Given the description of an element on the screen output the (x, y) to click on. 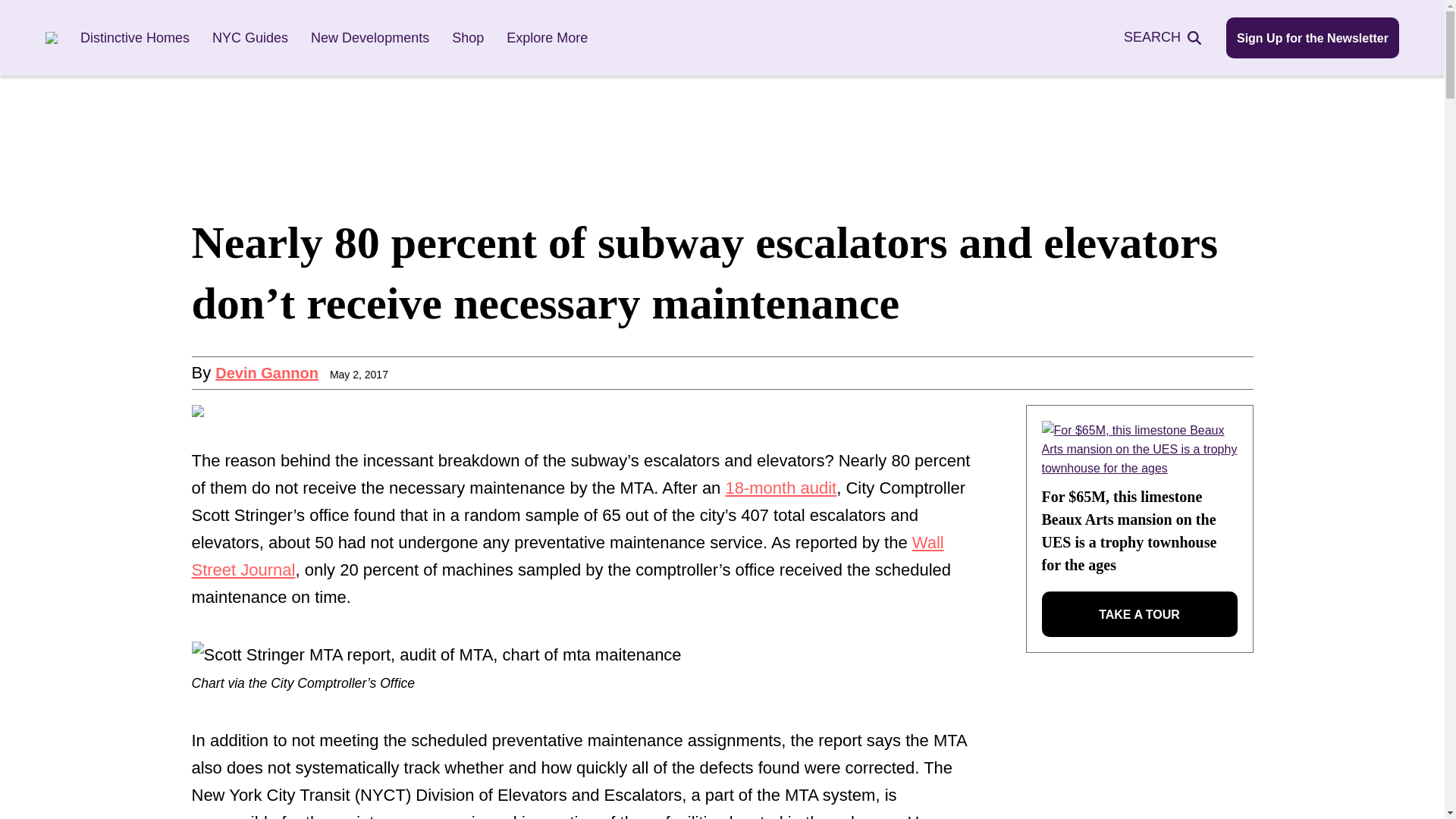
Posts by Devin Gannon (266, 372)
Sign Up for the Newsletter (1312, 37)
Devin Gannon (266, 372)
Explore More (547, 37)
Shop (467, 37)
18-month audit (780, 487)
NYC Guides (250, 37)
Wall Street Journal (566, 556)
SEARCH (1171, 36)
Distinctive Homes (134, 37)
New Developments (370, 37)
